Given the description of an element on the screen output the (x, y) to click on. 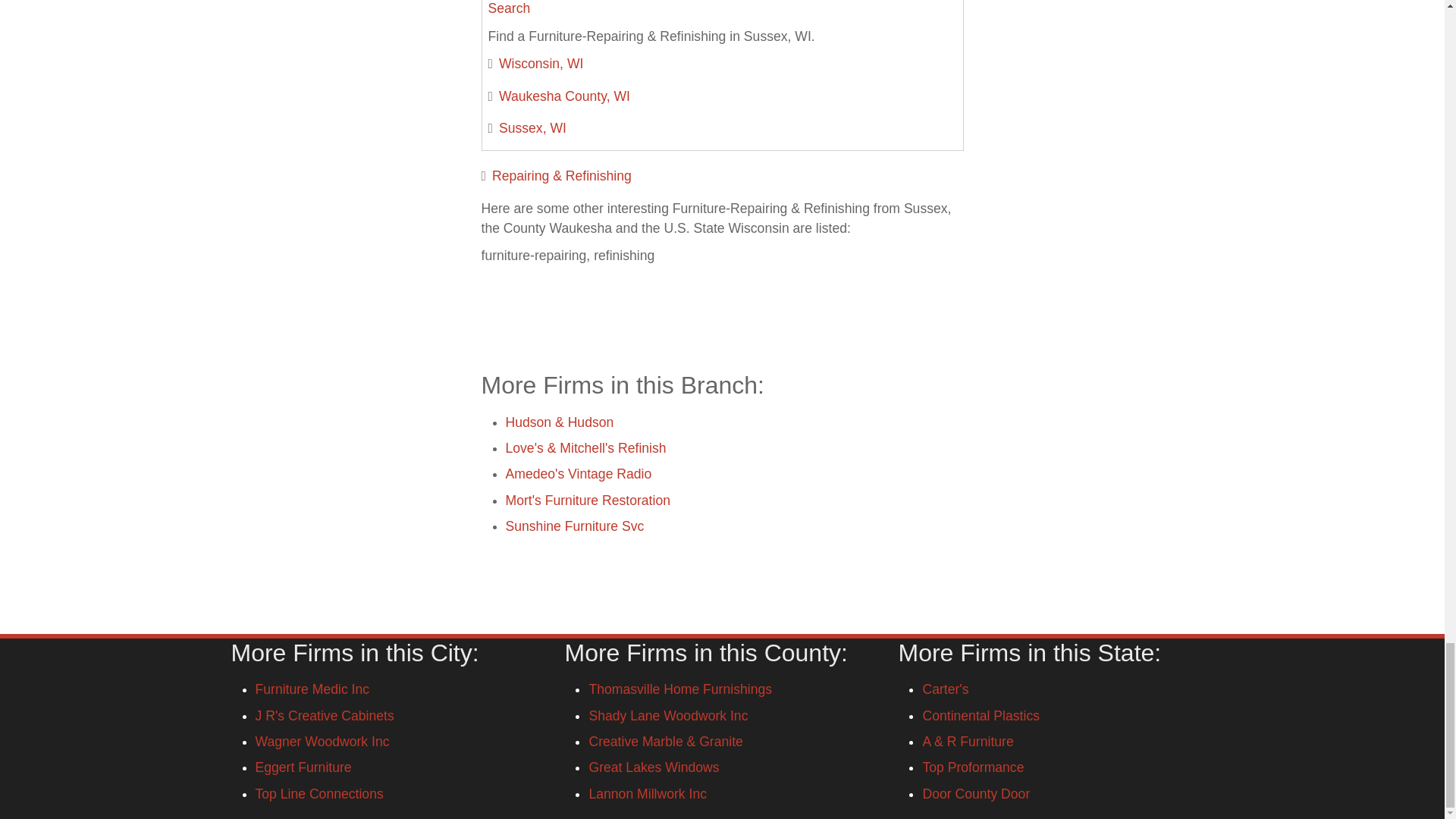
Waukesha County, WI (564, 96)
Wisconsin, WI (541, 63)
Sussex, WI (532, 127)
Mort's Furniture Restoration (587, 500)
Amedeo's Vintage Radio (577, 473)
Sunshine Furniture Svc (574, 525)
Search (509, 7)
